Given the description of an element on the screen output the (x, y) to click on. 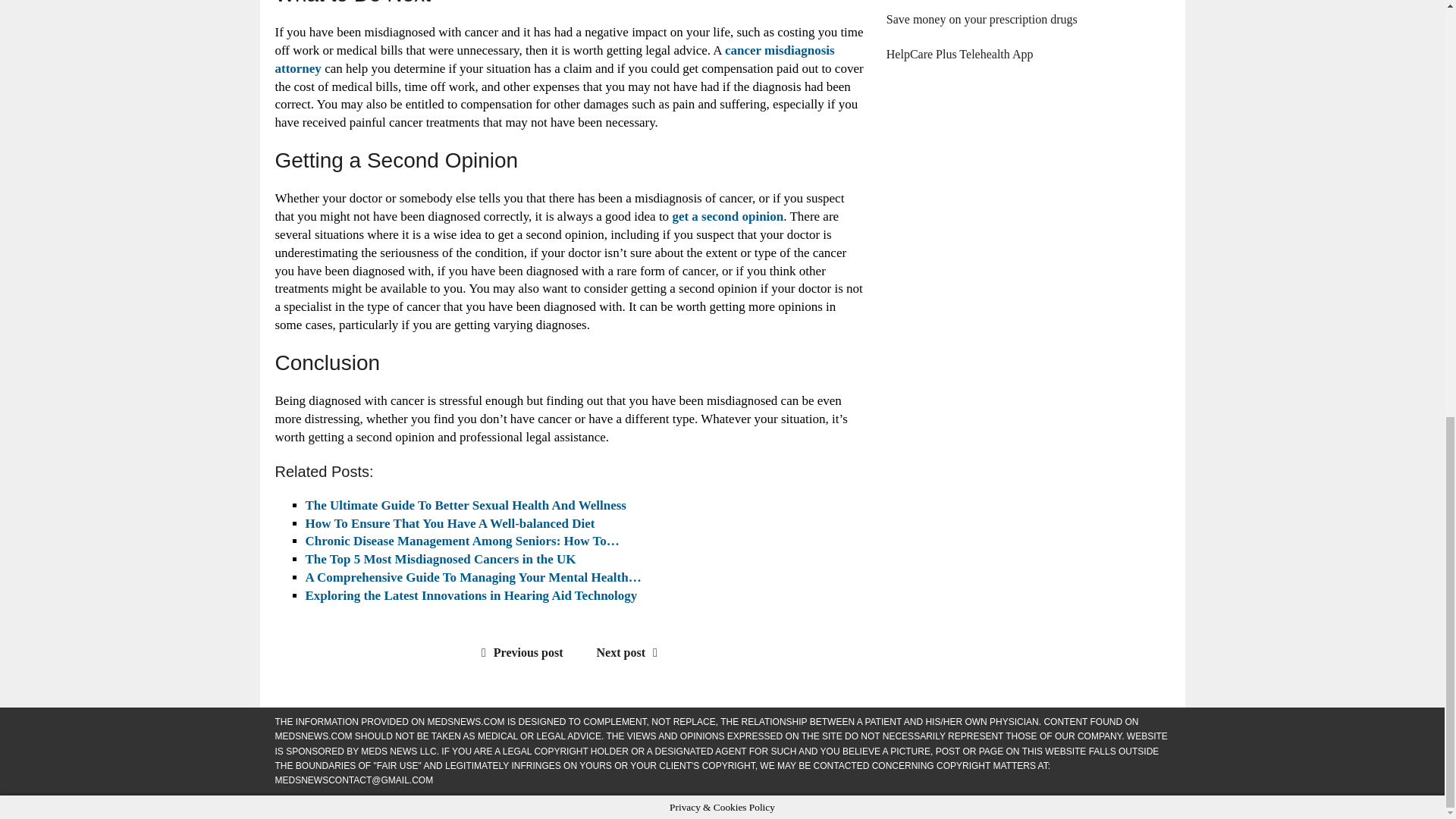
cancer misdiagnosis attorney (554, 59)
How To Ensure That You Have A Well-balanced Diet (449, 523)
Previous post (518, 652)
The Top 5 Most Misdiagnosed Cancers in the UK (439, 559)
Exploring the Latest Innovations in Hearing Aid Technology  (472, 595)
Save money on your prescription drugs (981, 19)
The Ultimate Guide To Better Sexual Health And Wellness (465, 504)
Next post (630, 652)
get a second opinion (727, 216)
